Given the description of an element on the screen output the (x, y) to click on. 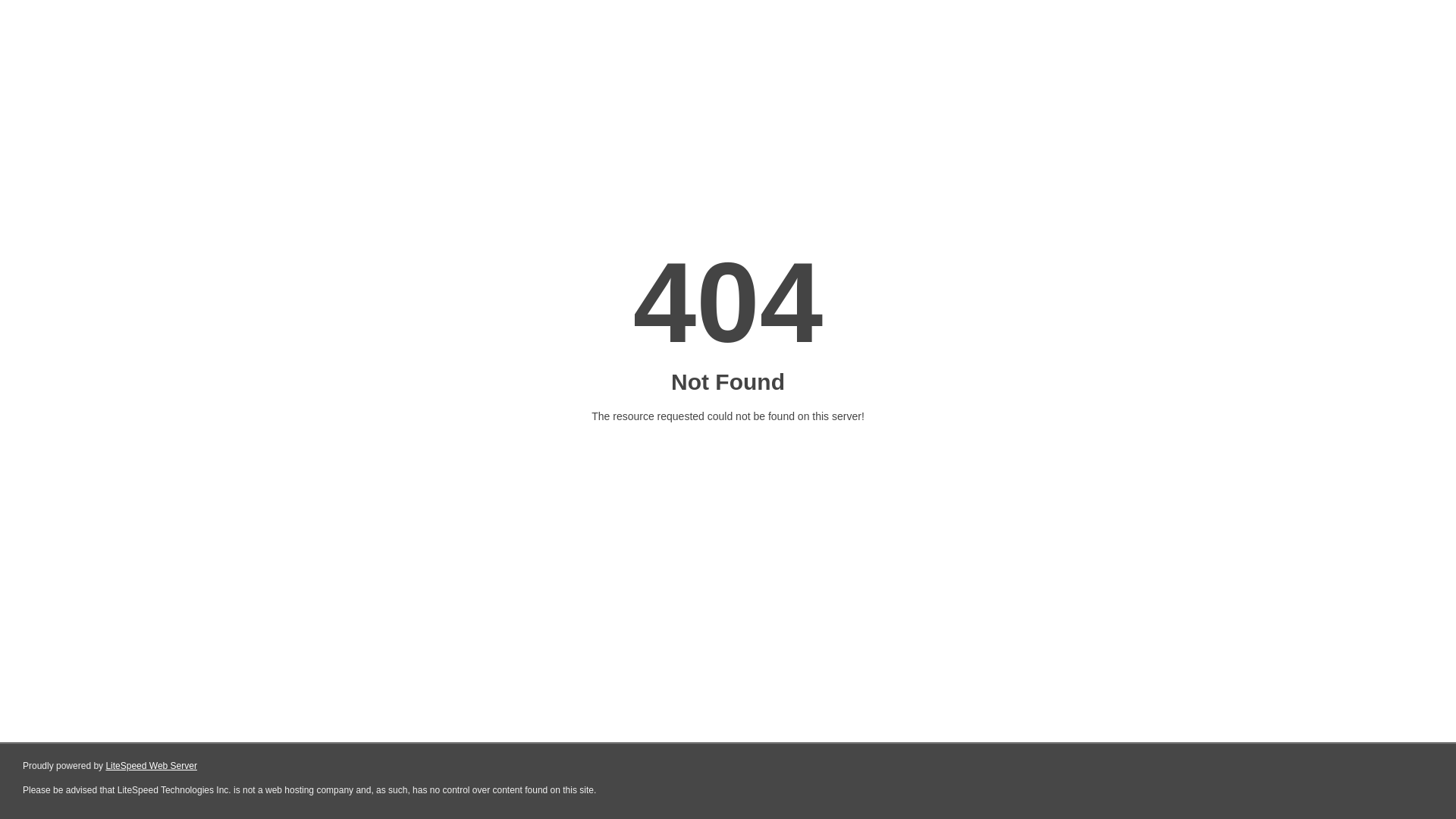
LiteSpeed Web Server Element type: text (151, 765)
